Given the description of an element on the screen output the (x, y) to click on. 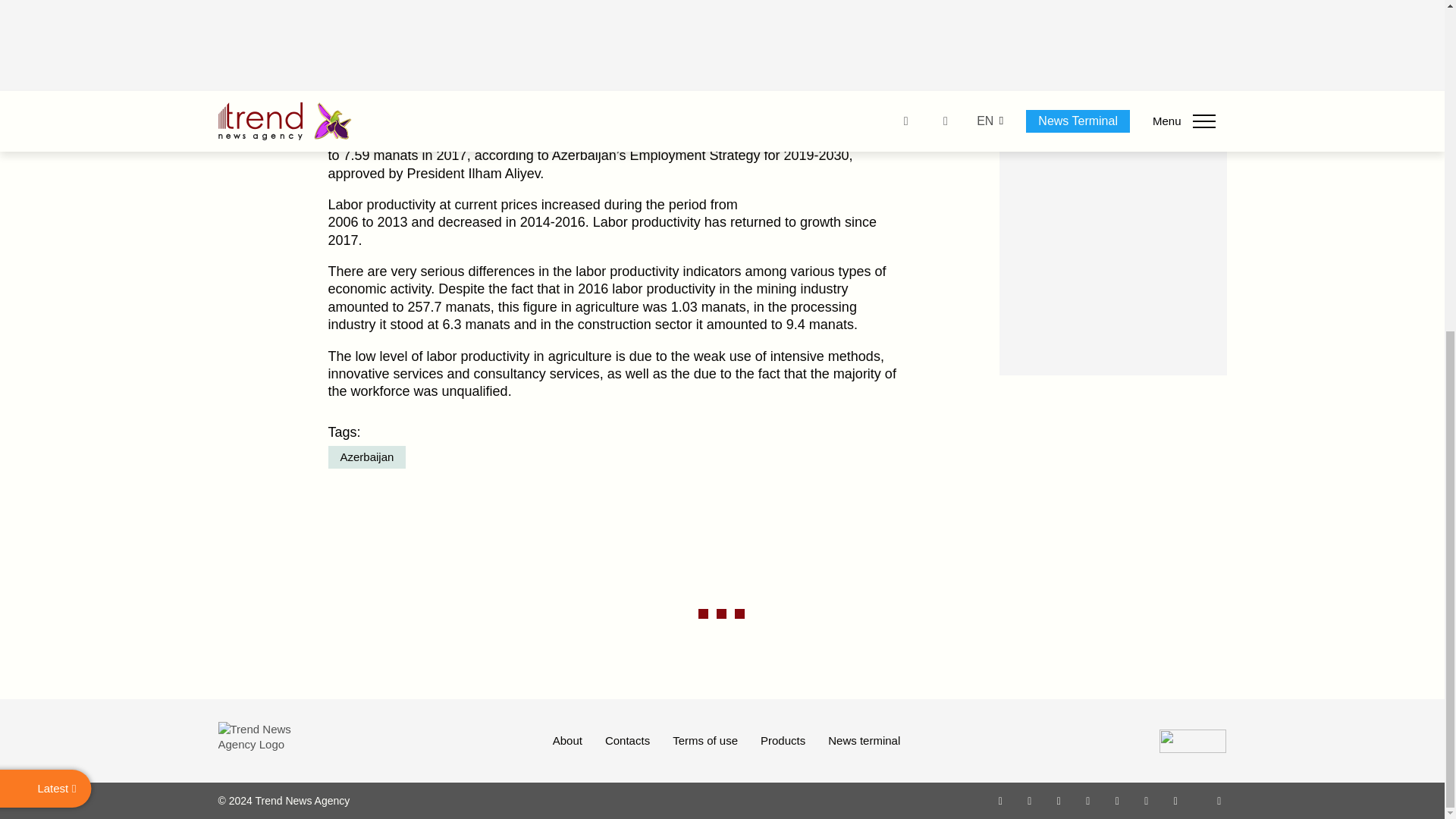
Youtube (1088, 800)
LinkedIn (1146, 800)
RSS Feed (1219, 800)
Android App (1176, 800)
Facebook (1029, 800)
Whatsapp (1000, 800)
Telegram (1117, 800)
Twitter (1059, 800)
